Given the description of an element on the screen output the (x, y) to click on. 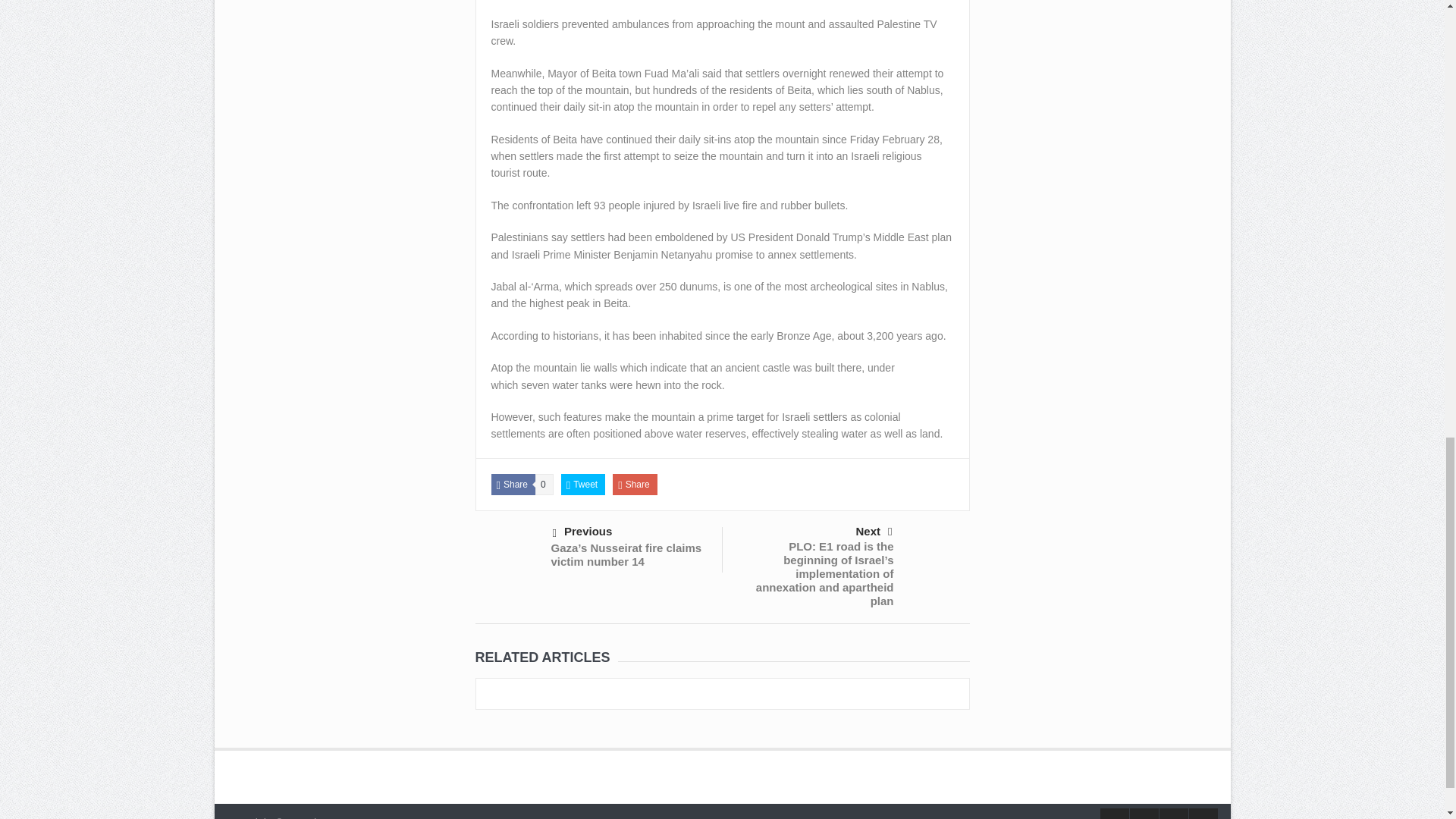
Previous (630, 532)
